Given the description of an element on the screen output the (x, y) to click on. 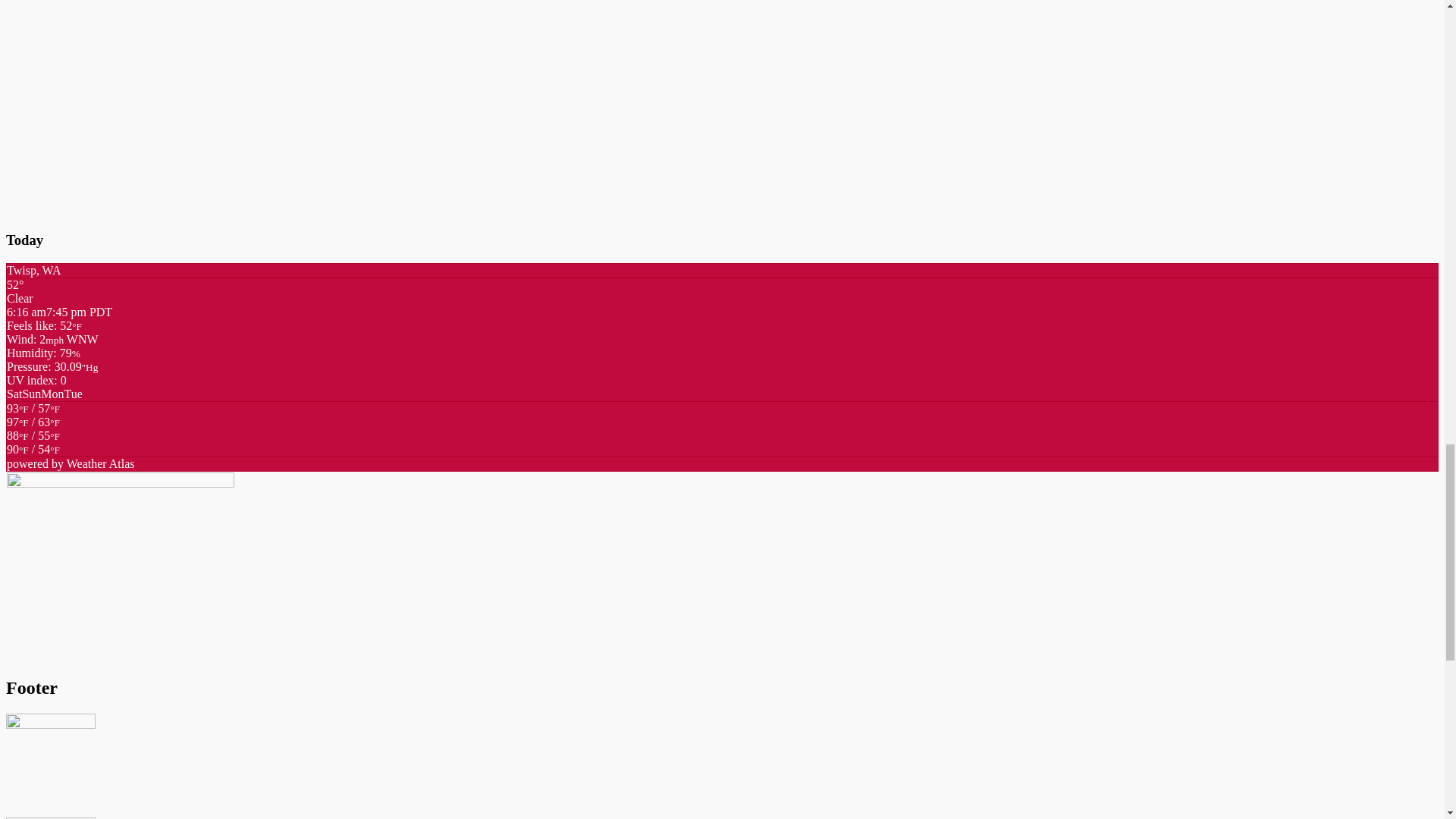
Mostly Sunny (33, 449)
Cloudy (33, 442)
Mostly Sunny (33, 428)
Sunny (33, 415)
